Given the description of an element on the screen output the (x, y) to click on. 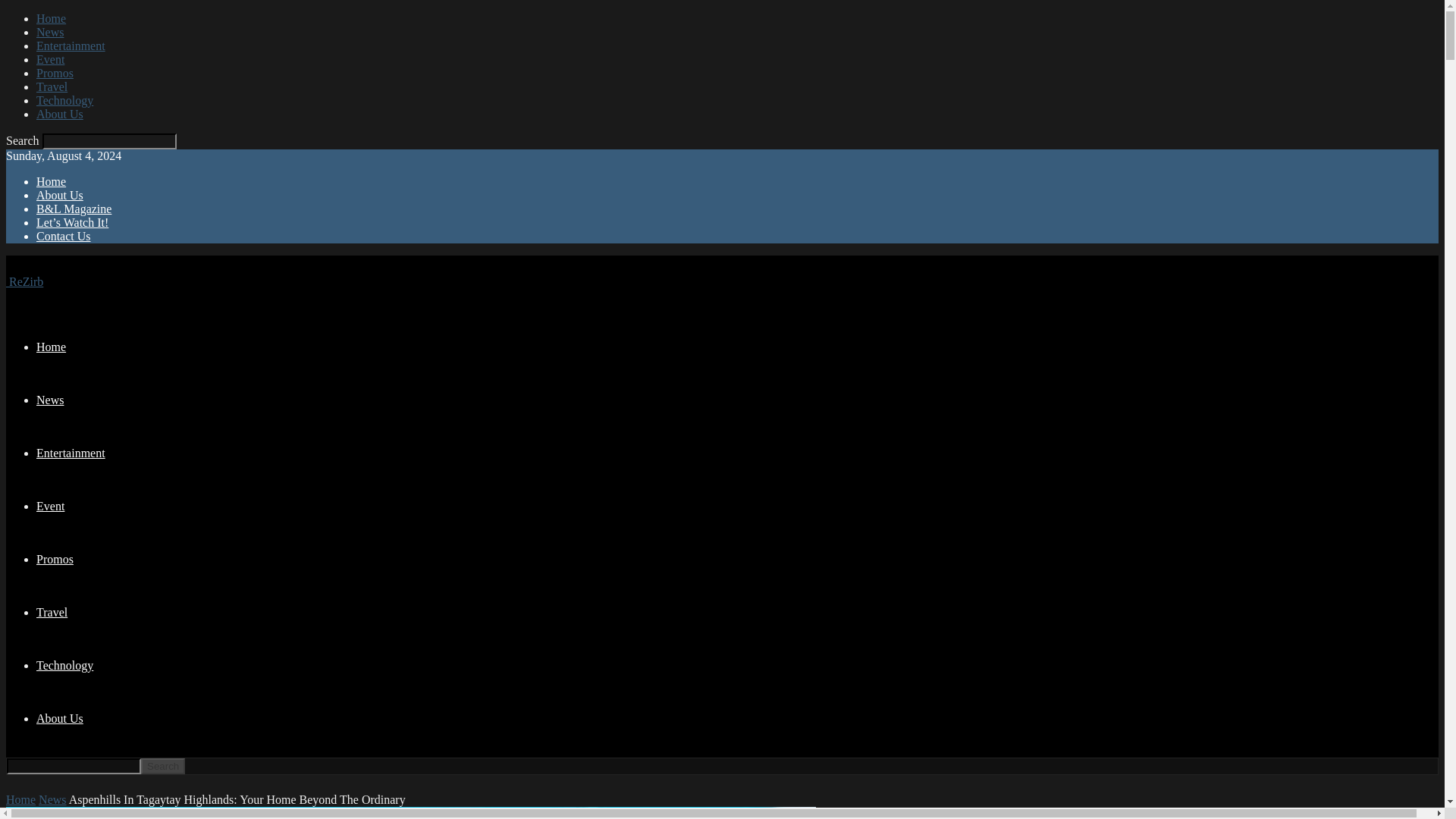
Home (50, 346)
About Us (59, 717)
Technology (64, 665)
News (50, 399)
Home (50, 181)
Entertainment (70, 452)
News (50, 31)
Travel (51, 612)
Event (50, 59)
Entertainment (70, 45)
Search (162, 765)
About Us (59, 195)
ReZirb (24, 281)
Home (19, 799)
Event (50, 505)
